Given the description of an element on the screen output the (x, y) to click on. 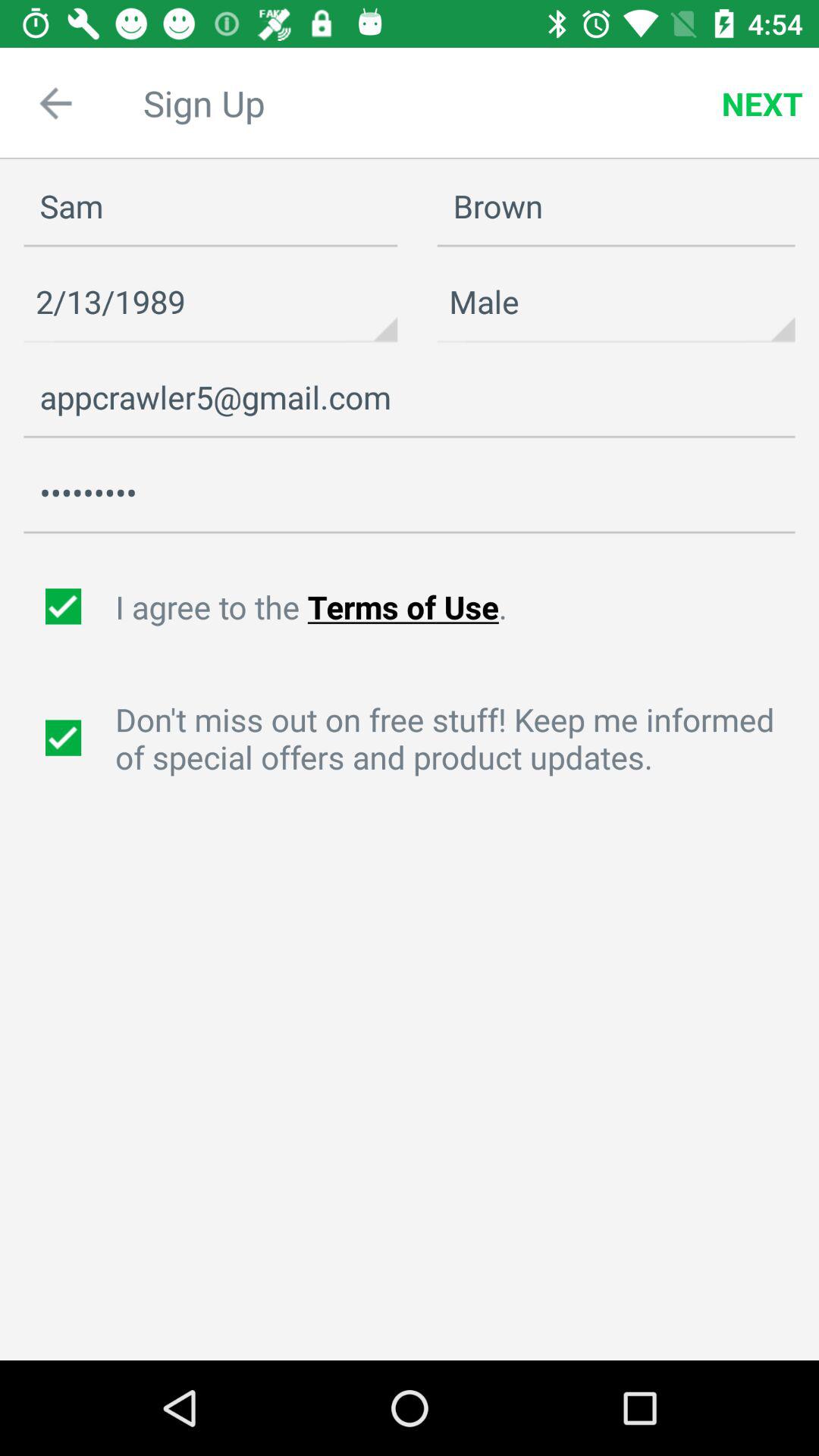
choose item below the crowd3116 (459, 606)
